Given the description of an element on the screen output the (x, y) to click on. 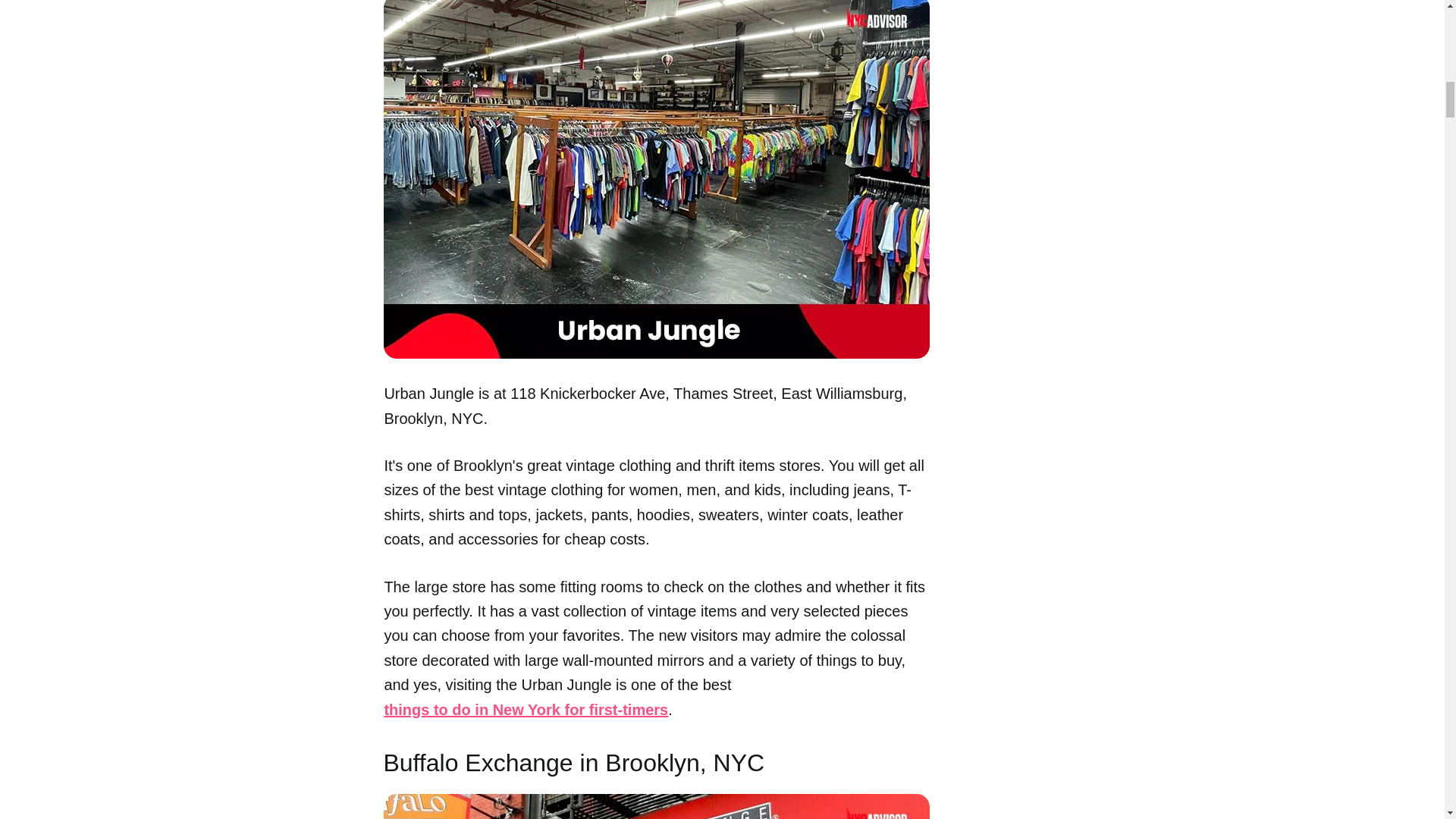
things to do in New York for first-timers (526, 709)
